Given the description of an element on the screen output the (x, y) to click on. 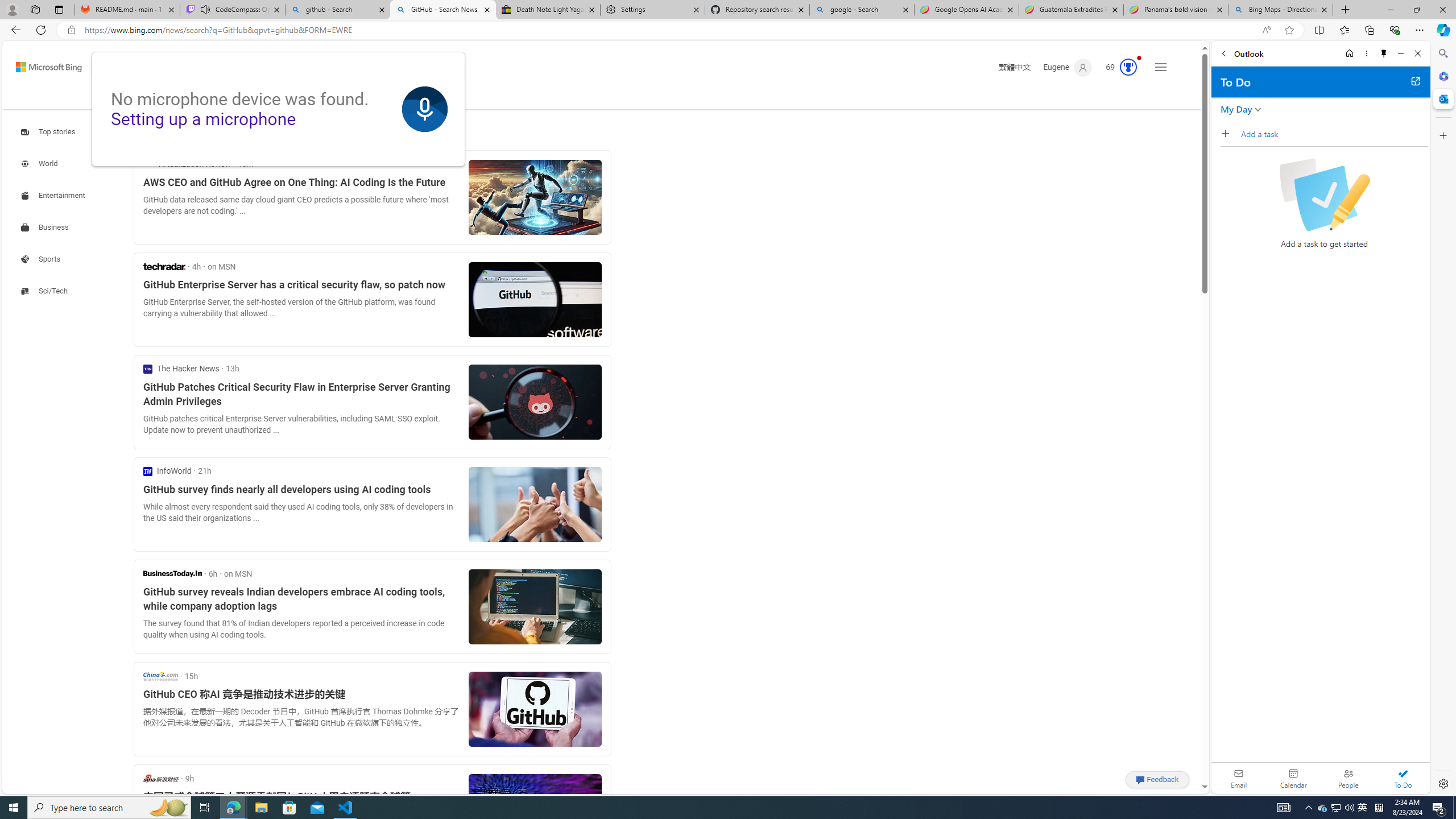
Copilot (Ctrl+Shift+.) (1442, 29)
Best match (225, 132)
COPILOT (178, 96)
Minimize (1401, 53)
MAPS (311, 96)
SEARCH (124, 96)
Close (1417, 53)
Search news about Sports (41, 258)
github - Search (337, 9)
Google Opens AI Academy for Startups - Nearshore Americas (966, 9)
Search news about Sci/Tech (45, 290)
IMAGES (224, 98)
Close tab (1324, 9)
Browser essentials (1394, 29)
